Given the description of an element on the screen output the (x, y) to click on. 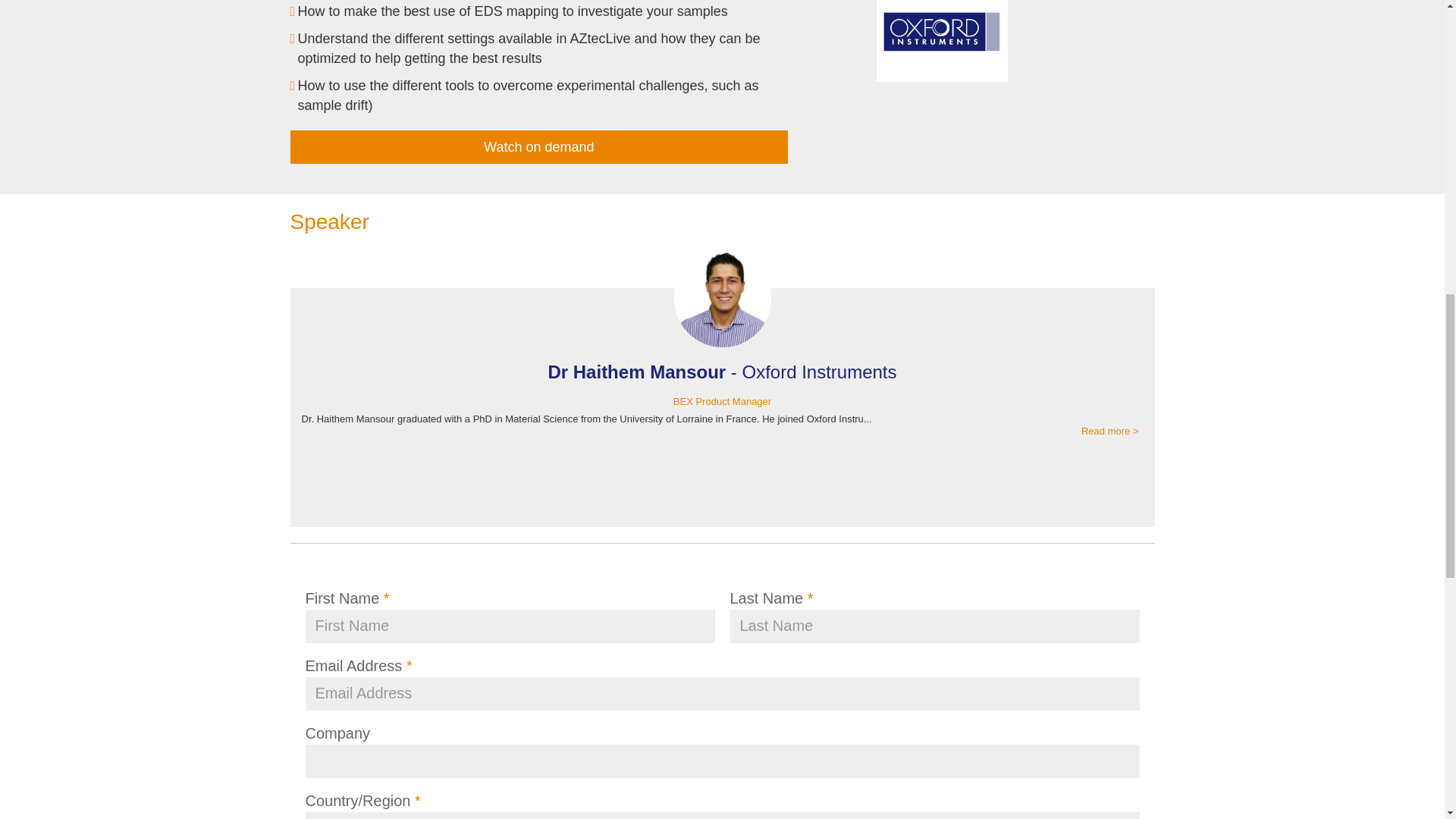
Last Name (933, 625)
First Name (509, 625)
Email Address (721, 693)
Company (721, 761)
